Given the description of an element on the screen output the (x, y) to click on. 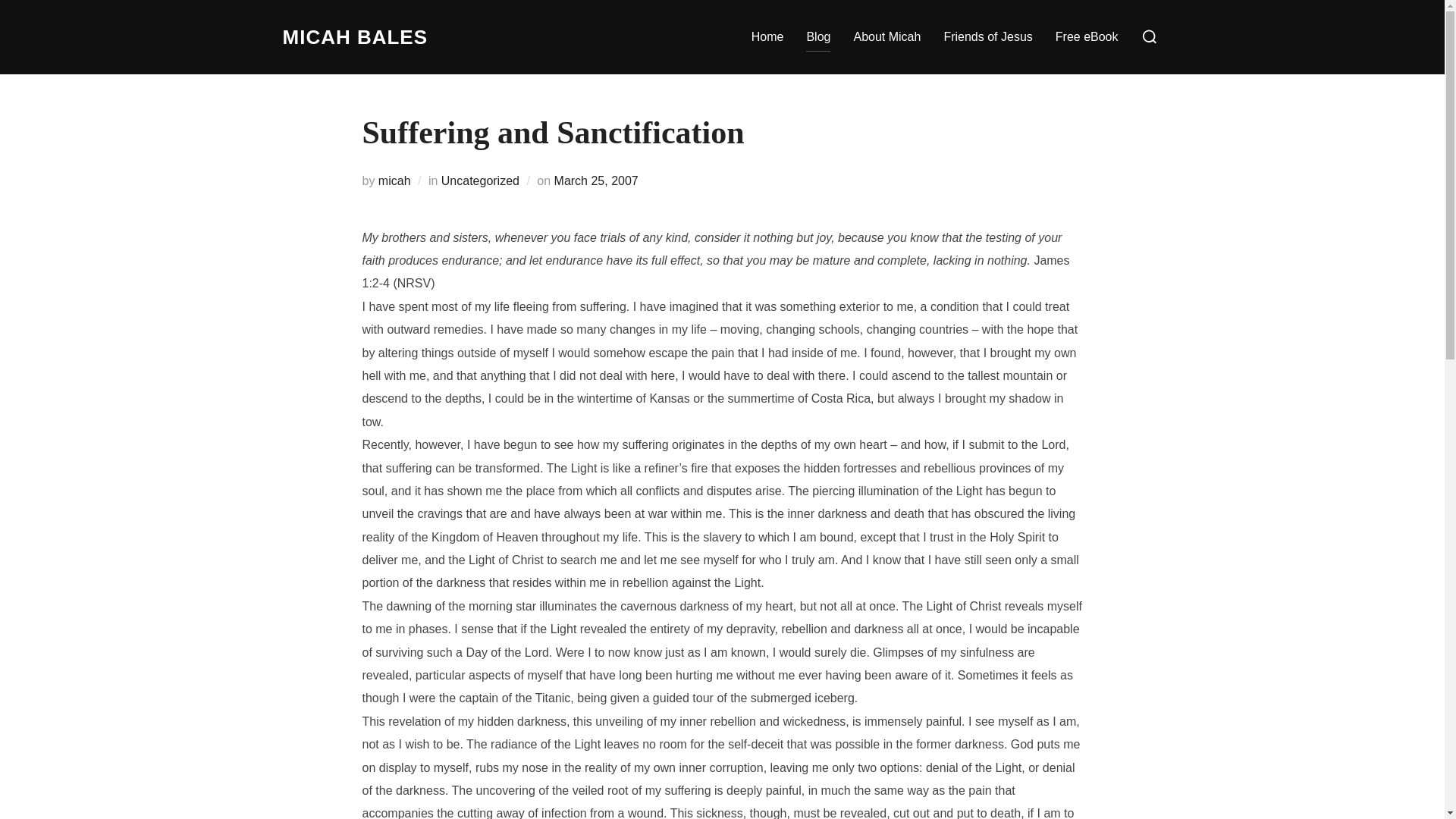
Uncategorized (480, 180)
Religion is Easy. Discipleship is Hard. (355, 37)
March 25, 2007 (596, 180)
Free eBook (1086, 36)
MICAH BALES (355, 37)
micah (394, 180)
About Micah (886, 36)
Home (767, 36)
Friends of Jesus (987, 36)
